Given the description of an element on the screen output the (x, y) to click on. 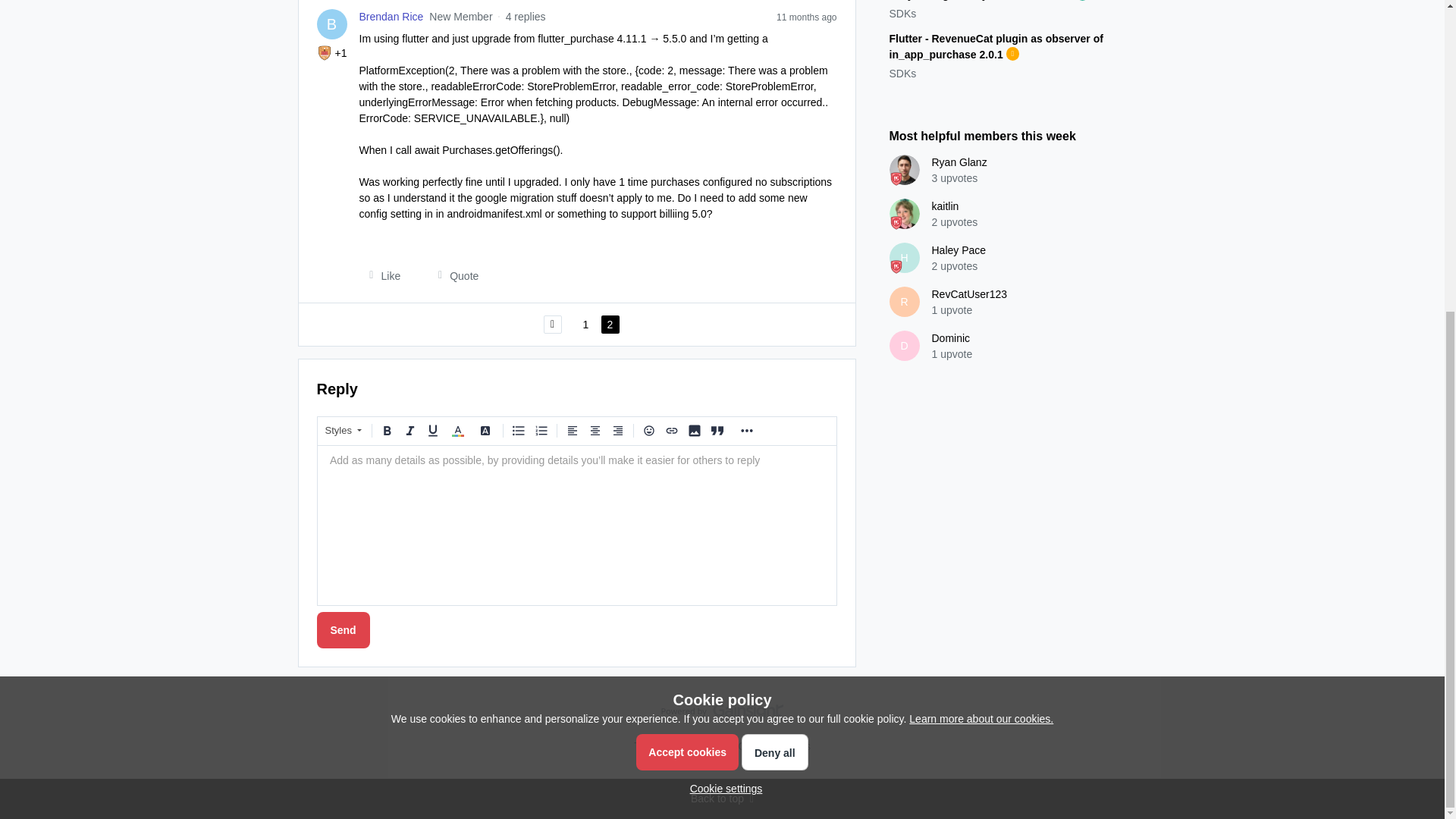
Back to top (722, 798)
